Given the description of an element on the screen output the (x, y) to click on. 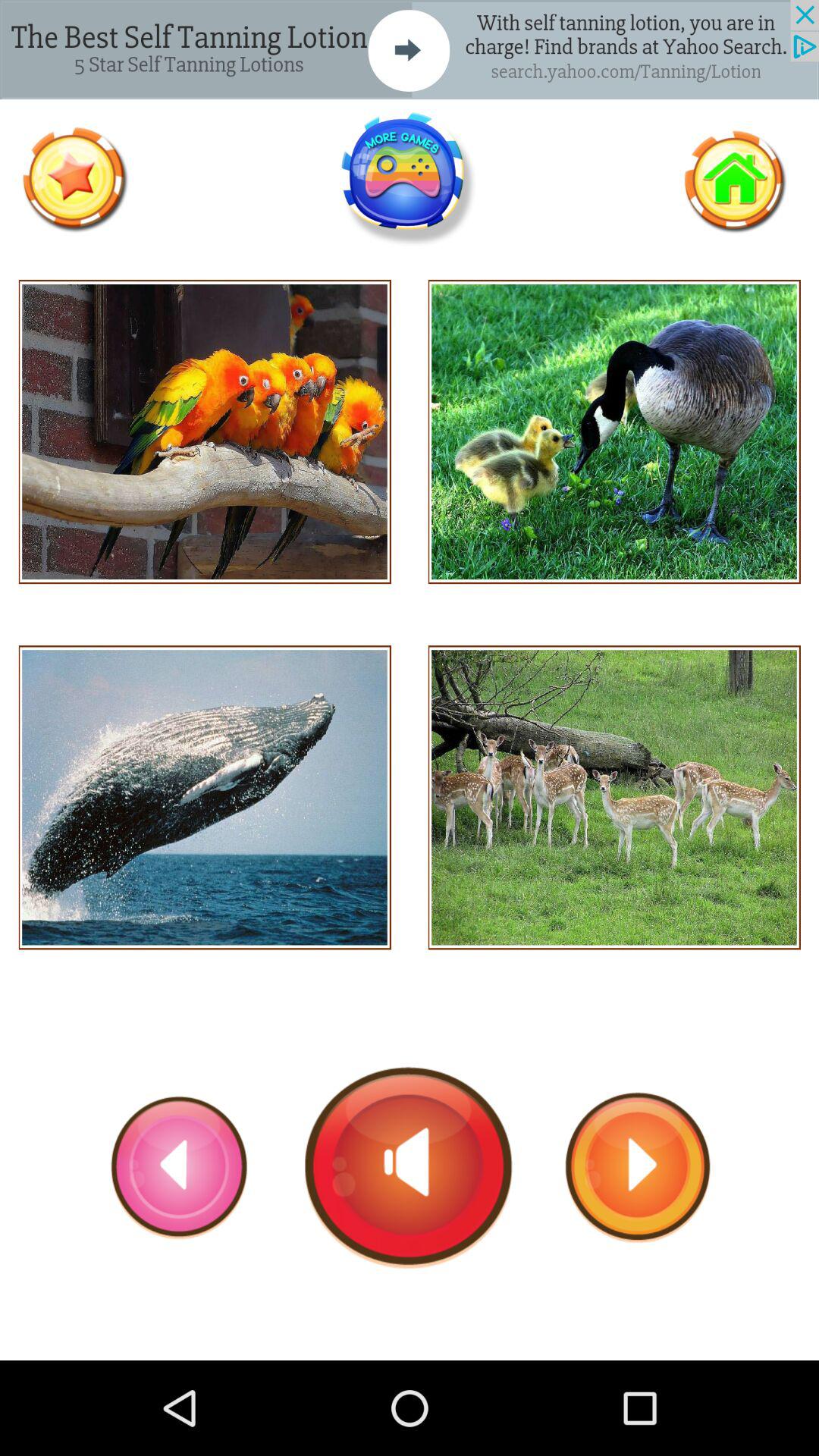
find more games (408, 179)
